Given the description of an element on the screen output the (x, y) to click on. 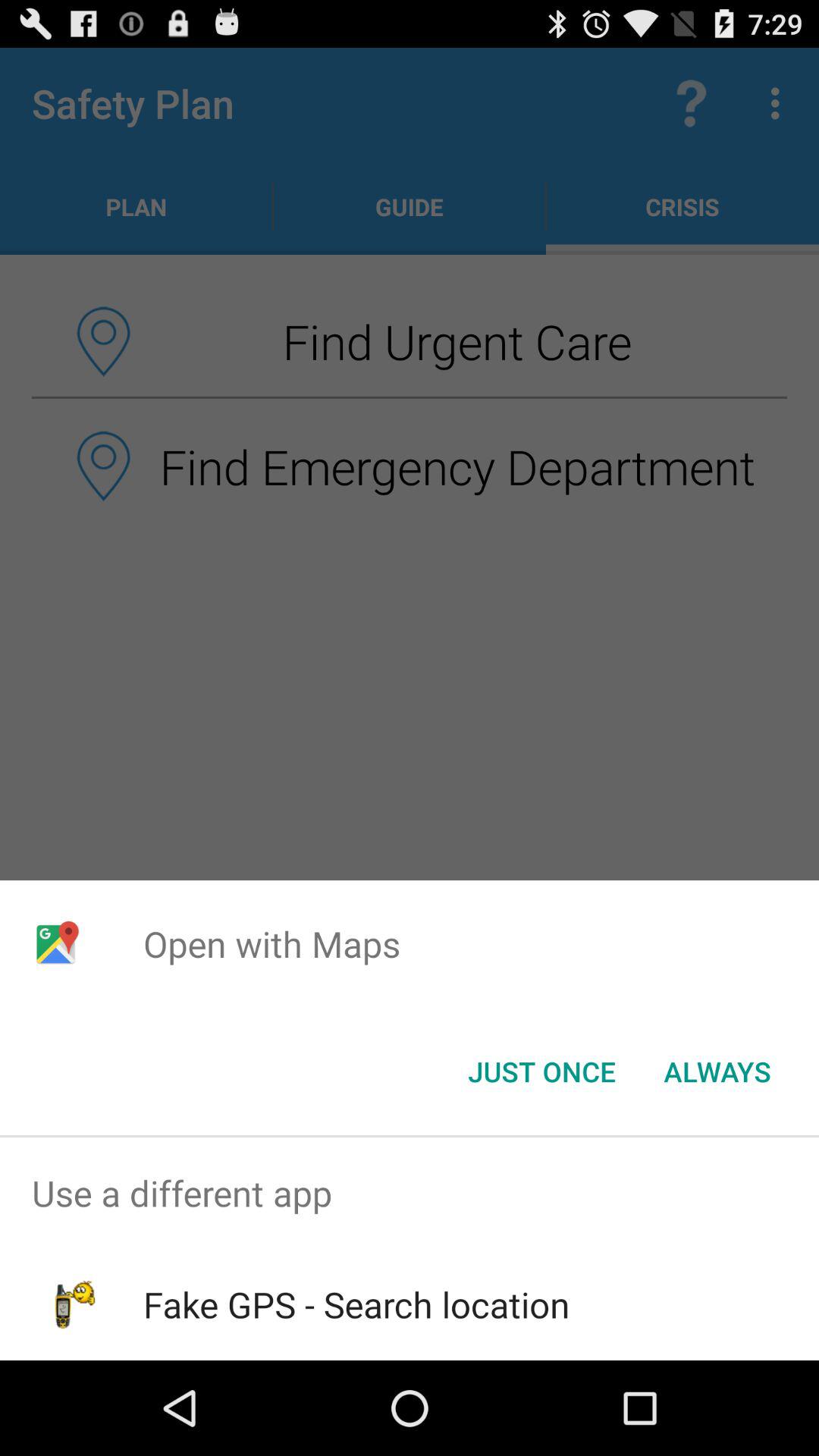
choose the always button (717, 1071)
